Given the description of an element on the screen output the (x, y) to click on. 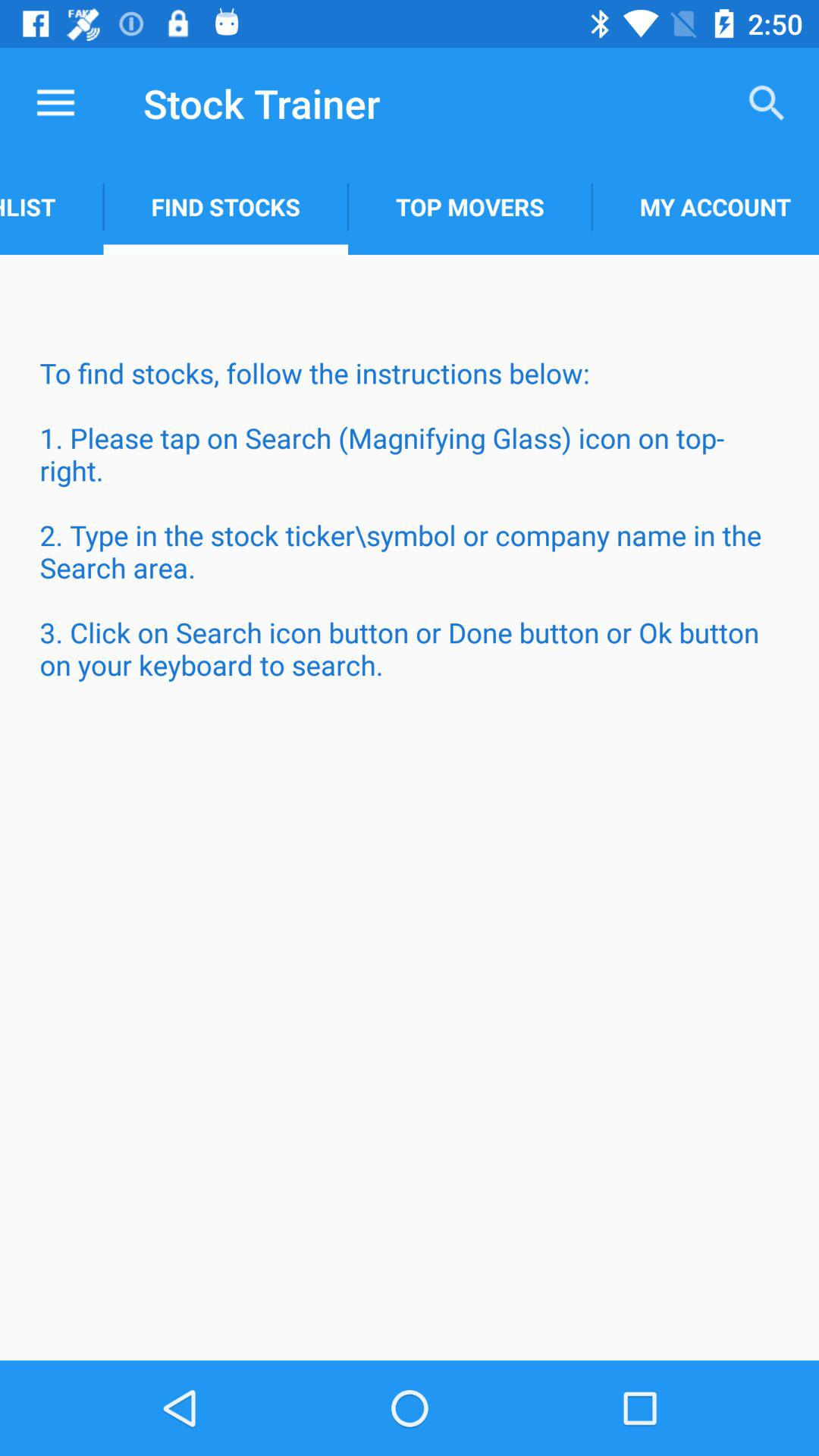
click the top movers app (470, 206)
